Given the description of an element on the screen output the (x, y) to click on. 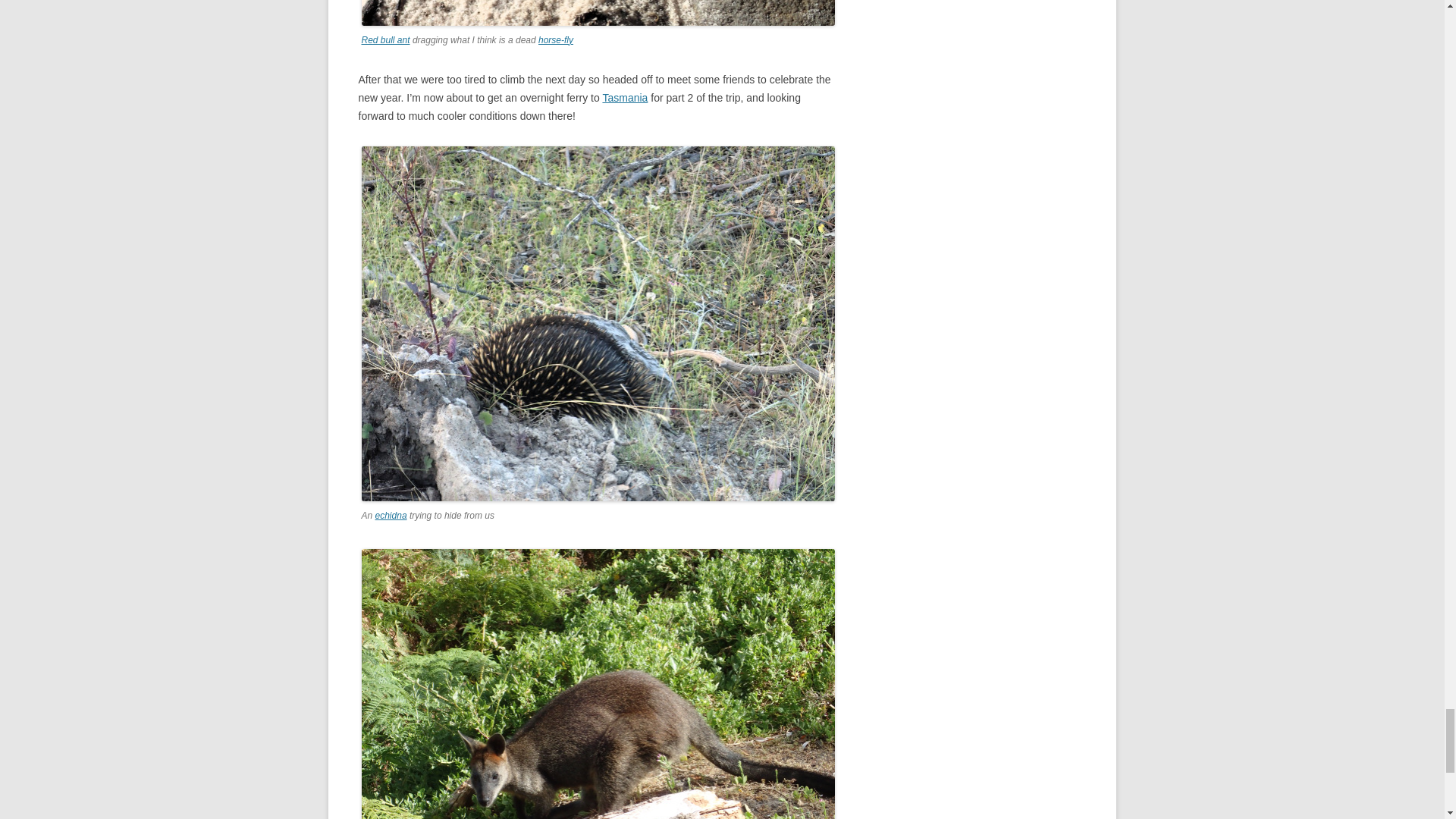
echidna (391, 515)
Tasmania (624, 97)
horse-fly (555, 40)
Red bull ant (385, 40)
